Given the description of an element on the screen output the (x, y) to click on. 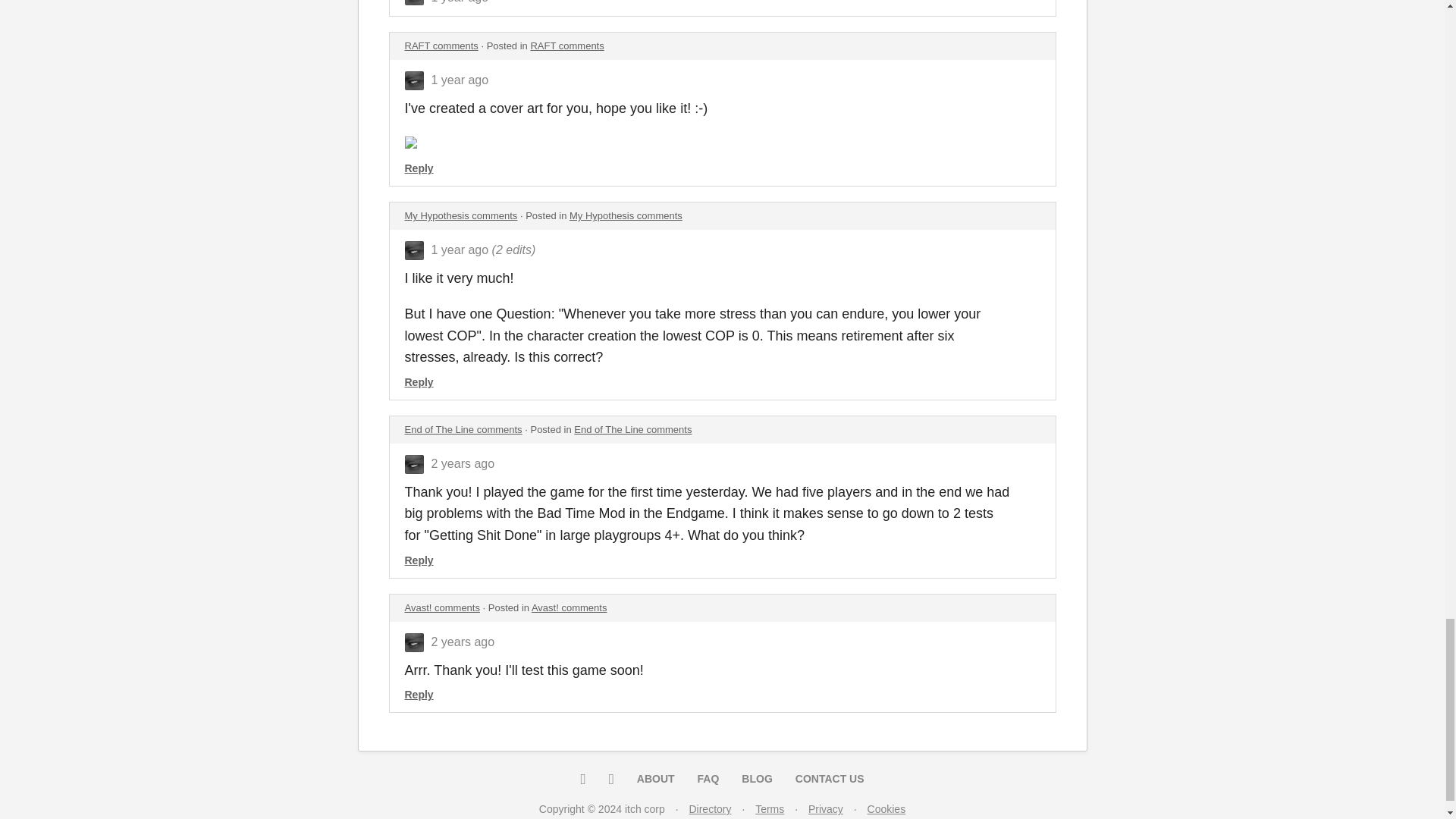
2021-10-08 09:56:59 (462, 641)
2021-10-08 10:01:25 (462, 463)
2022-08-27 09:32:58 (458, 79)
2022-08-23 10:51:29 (458, 249)
